Given the description of an element on the screen output the (x, y) to click on. 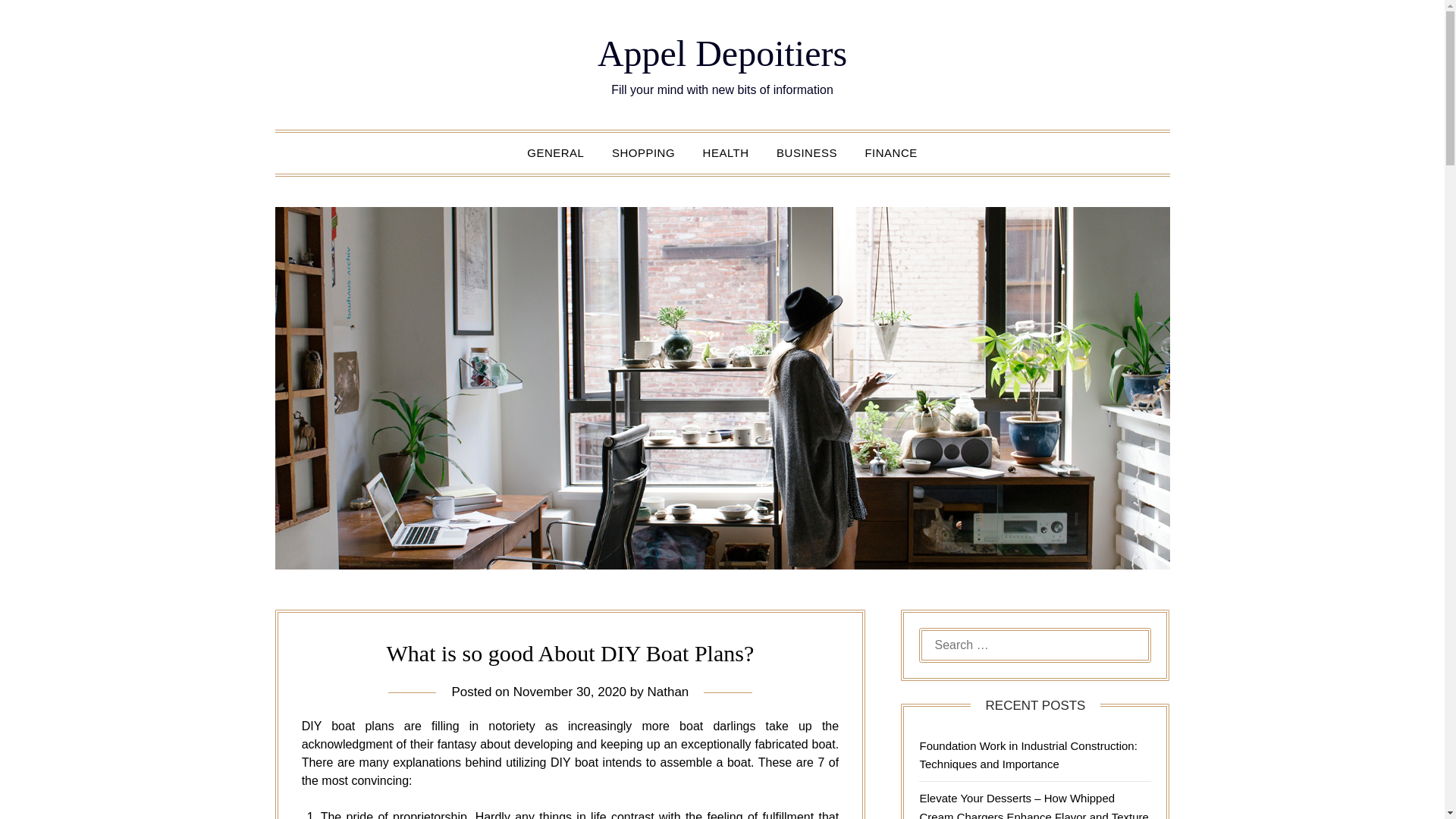
BUSINESS (806, 152)
HEALTH (725, 152)
November 30, 2020 (569, 691)
Appel Depoitiers (721, 53)
Nathan (667, 691)
Search (38, 22)
SHOPPING (643, 152)
GENERAL (555, 152)
FINANCE (889, 152)
